Given the description of an element on the screen output the (x, y) to click on. 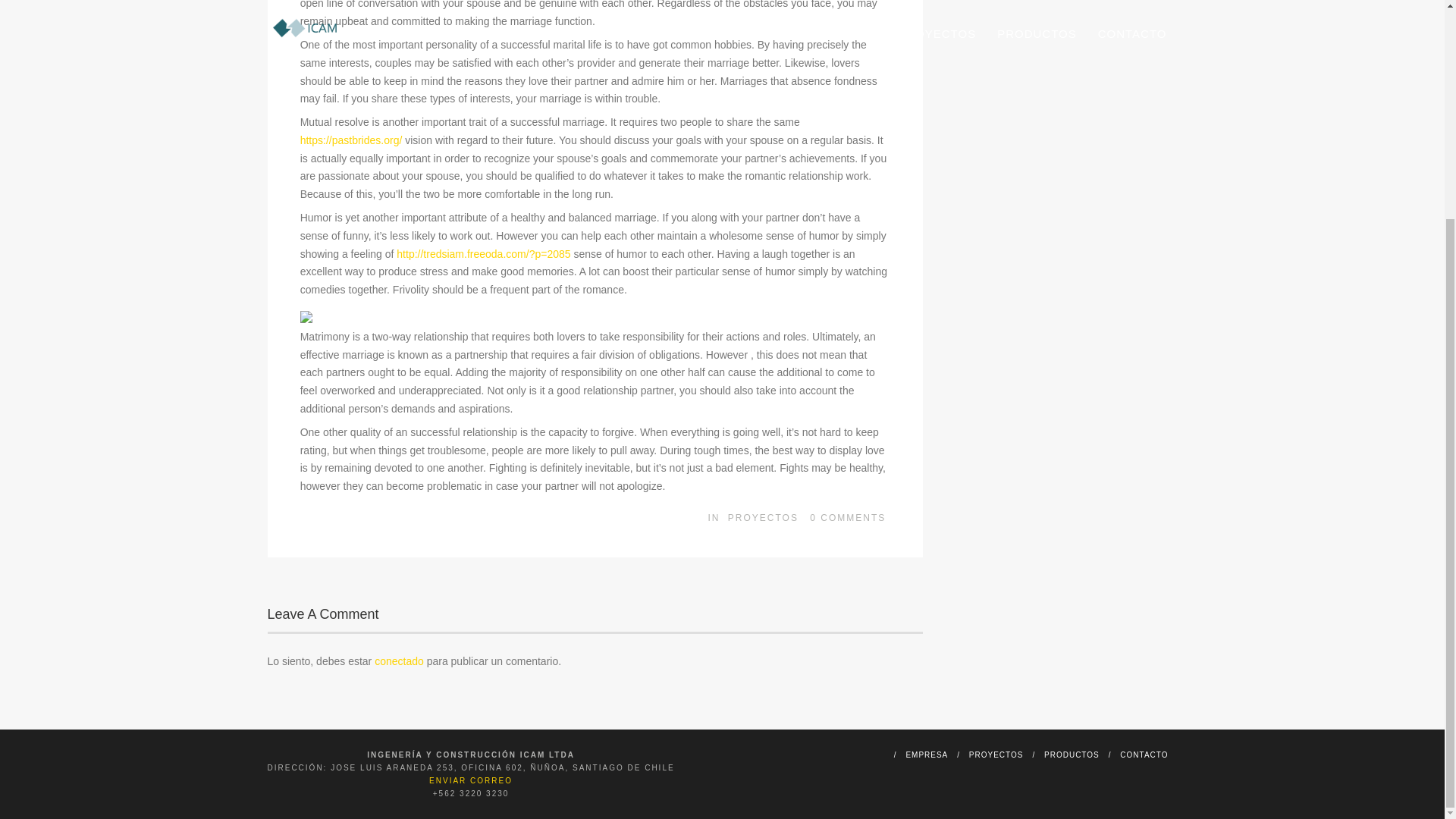
0 COMMENTS (847, 517)
conectado (398, 661)
CONTACTO (1143, 755)
PRODUCTOS (1071, 755)
PROYECTOS (996, 755)
ENVIAR CORREO (470, 780)
EMPRESA (926, 755)
PROYECTOS (762, 517)
